Given the description of an element on the screen output the (x, y) to click on. 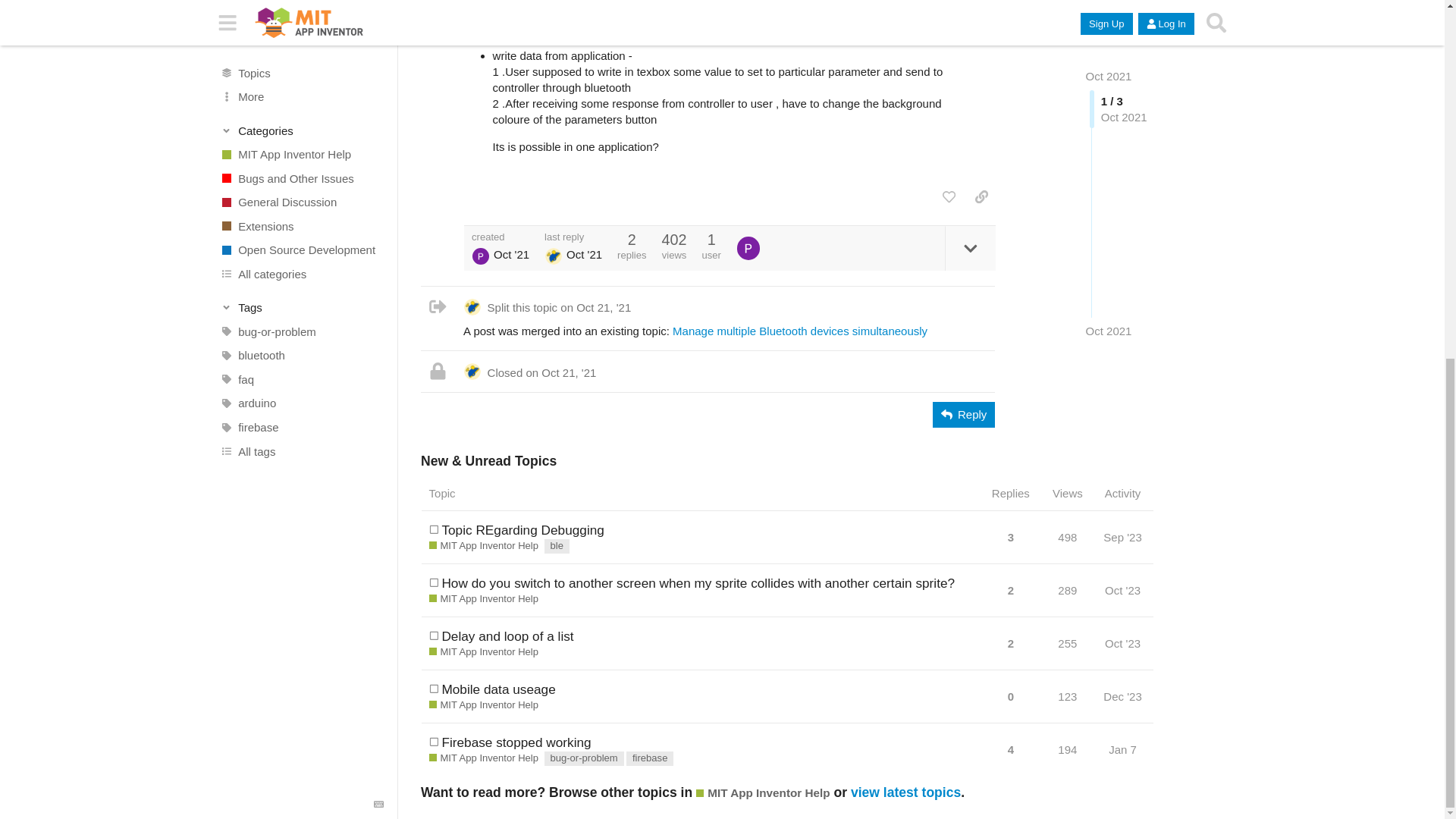
last reply (573, 236)
Keyboard Shortcuts (378, 171)
